Given the description of an element on the screen output the (x, y) to click on. 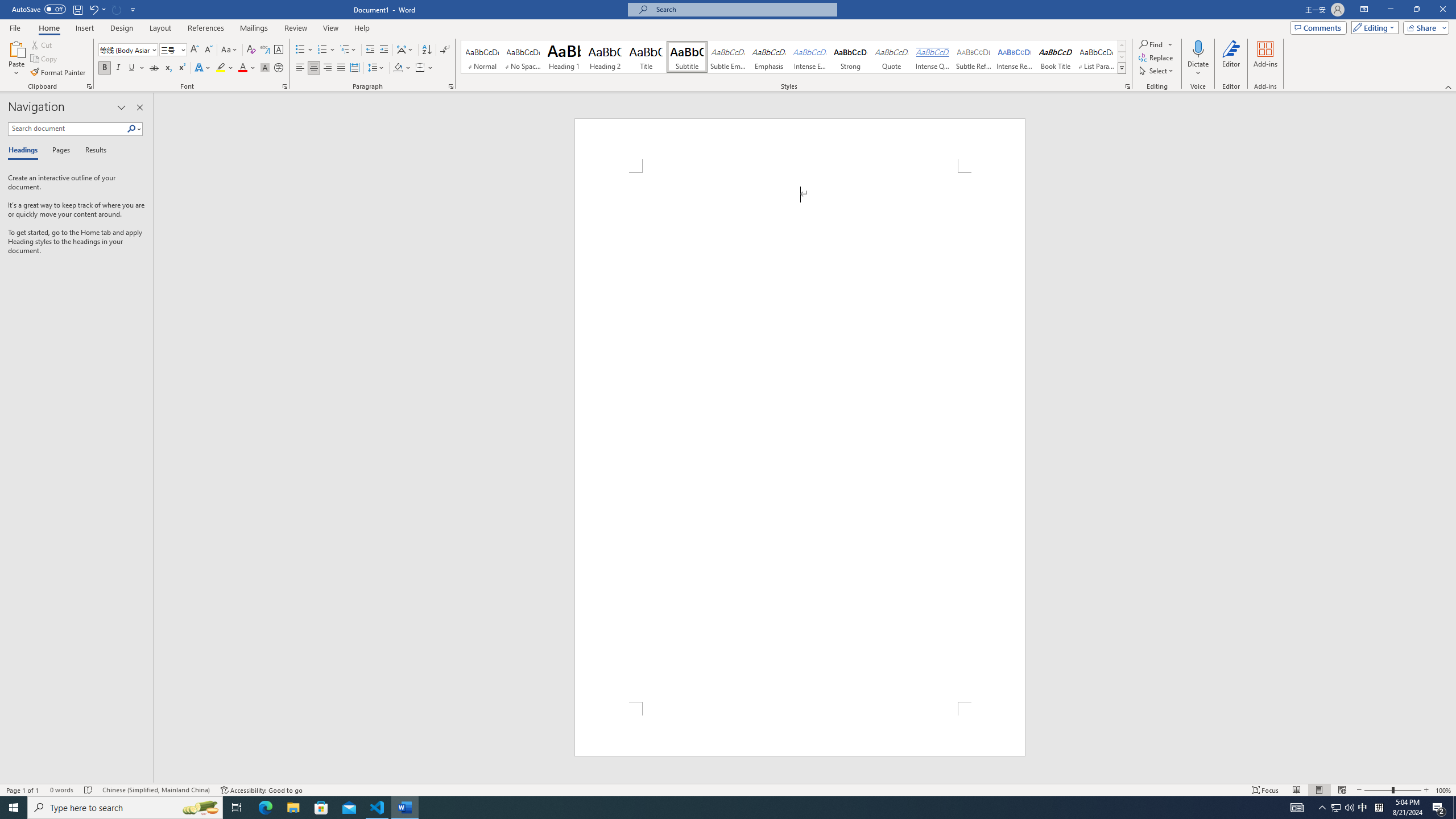
Undo Apply Quick Style (92, 9)
Page 1 content (800, 436)
Intense Reference (1014, 56)
Emphasis (768, 56)
